Given the description of an element on the screen output the (x, y) to click on. 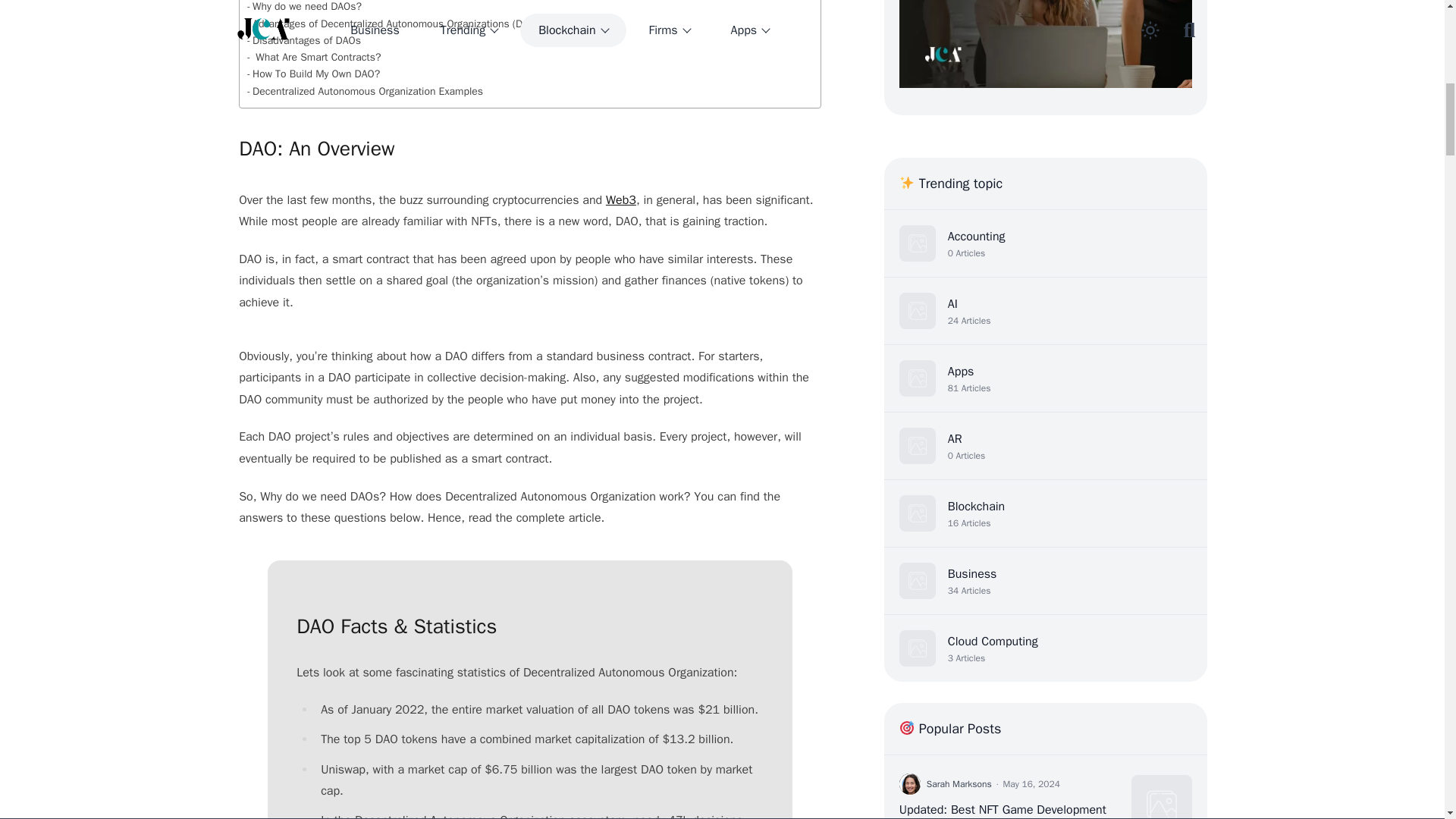
Why do we need DAOs? (304, 7)
How To Build My Own DAO? (313, 74)
Disadvantages of DAOs (304, 40)
Decentralized Autonomous Organization Examples (365, 91)
